Given the description of an element on the screen output the (x, y) to click on. 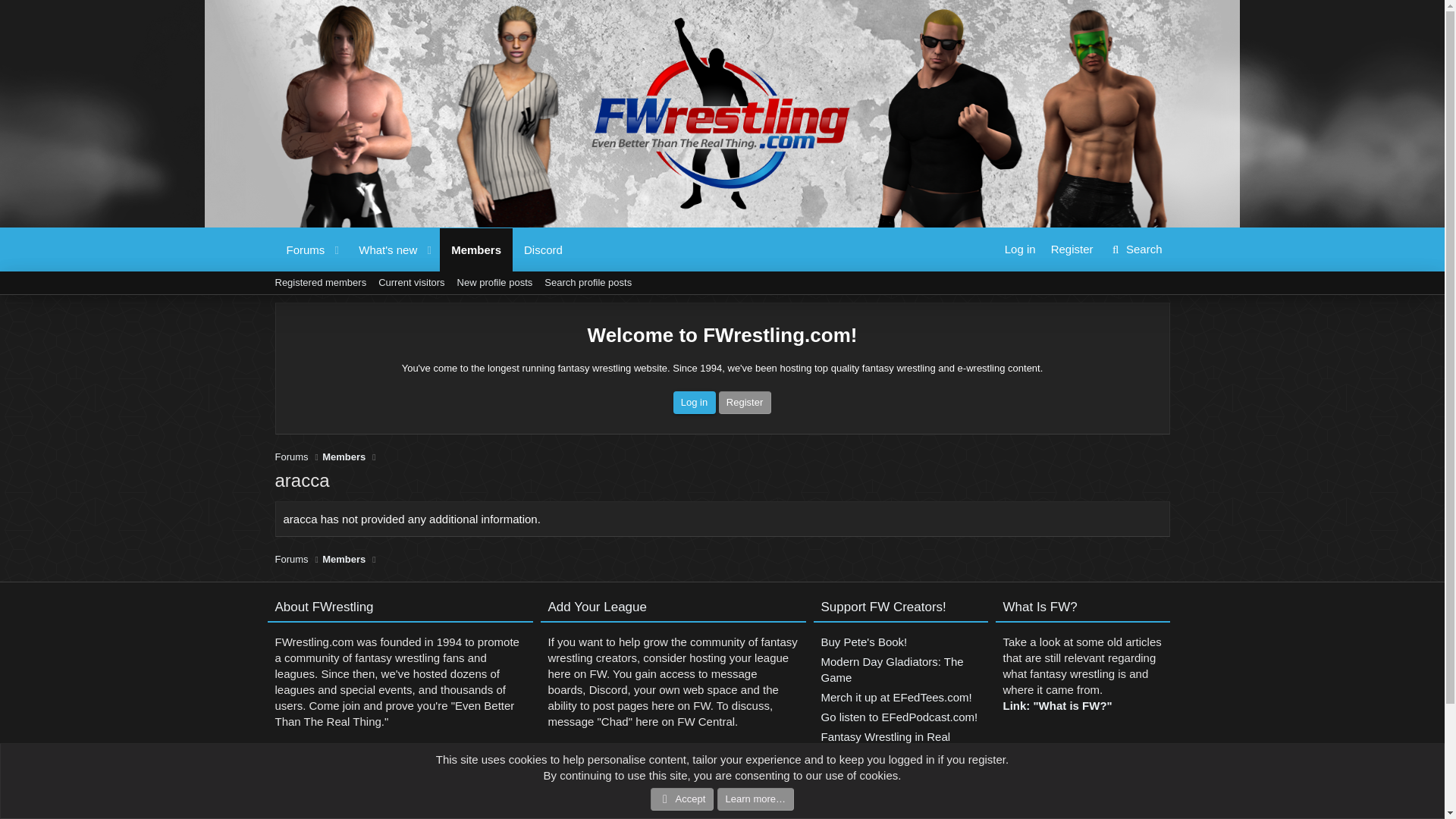
Buy Pete's Book! (900, 643)
Members (343, 457)
Current visitors (410, 282)
Search (1135, 249)
Register (745, 402)
Log in (694, 402)
Search (1135, 249)
Discord (542, 249)
Members (423, 266)
RSS (343, 559)
Forums (1168, 777)
Modern Day Gladiators: The Game (291, 457)
Forums (900, 671)
